Given the description of an element on the screen output the (x, y) to click on. 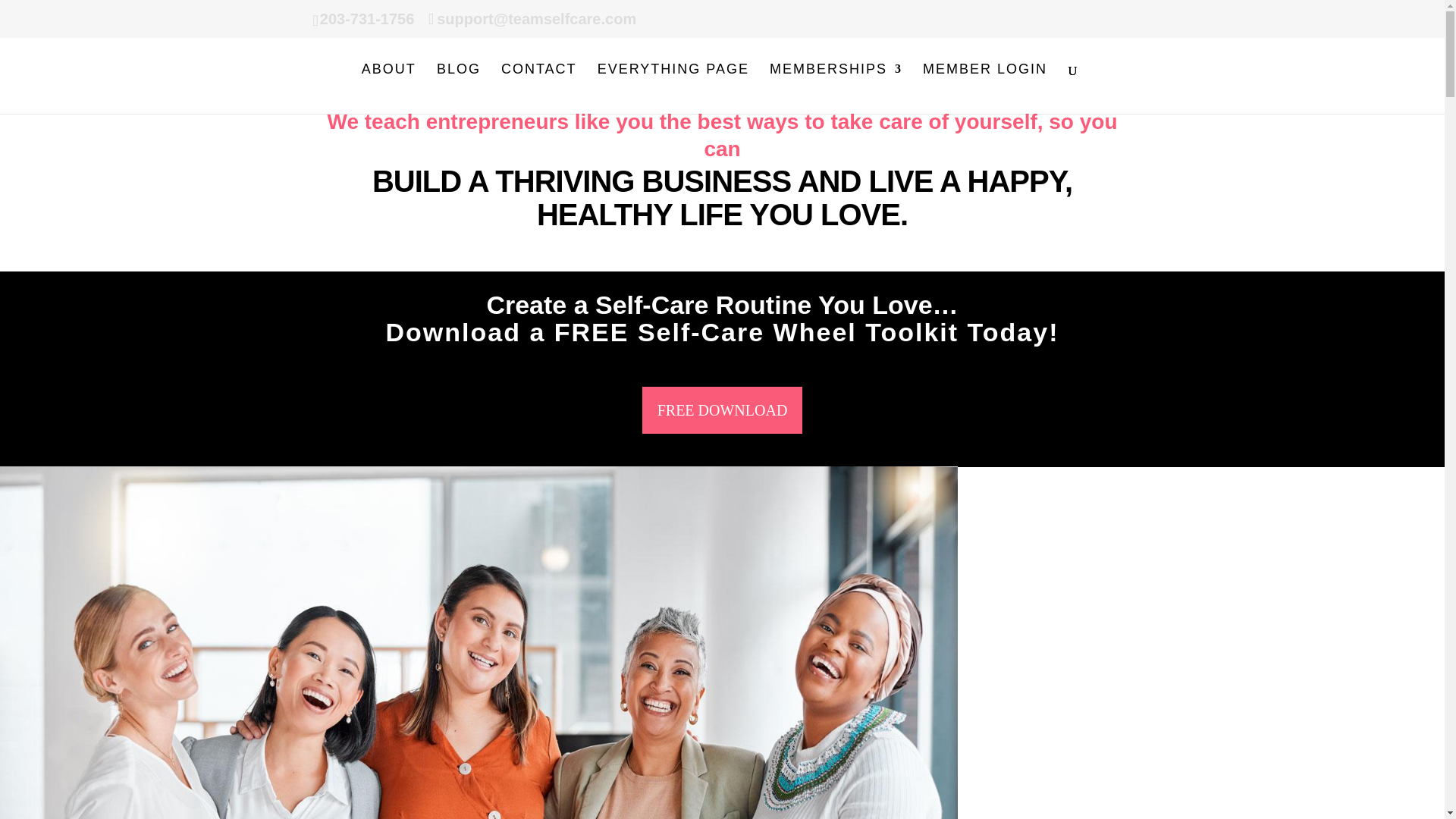
MEMBER LOGIN (984, 88)
CONTACT (538, 88)
MEMBERSHIPS (836, 88)
EVERYTHING PAGE (672, 88)
ABOUT (388, 88)
FREE DOWNLOAD (722, 410)
